Given the description of an element on the screen output the (x, y) to click on. 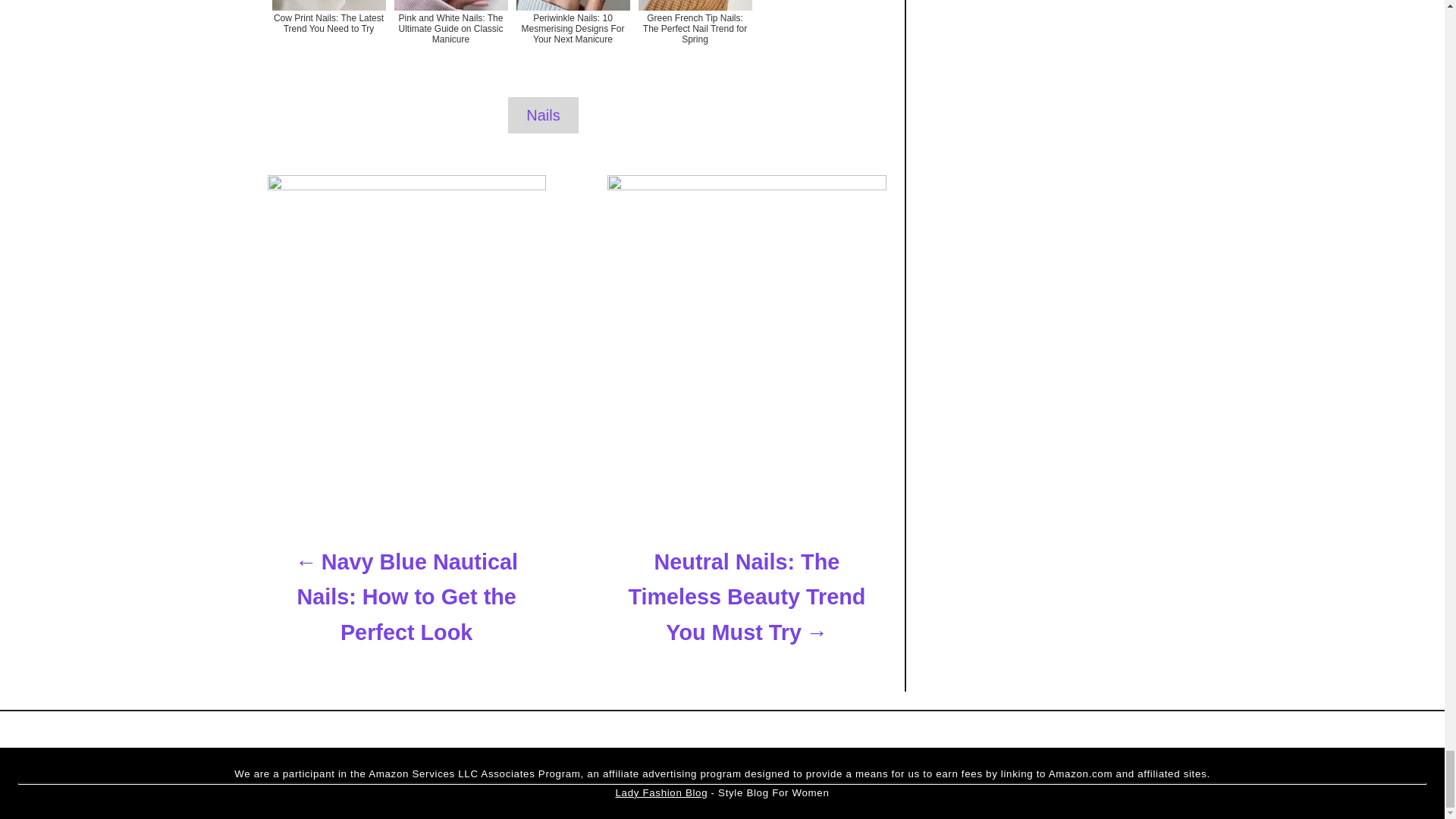
Cow Print Nails: The Latest Trend You Need to Try (328, 36)
Green French Tip Nails: The Perfect Nail Trend for Spring (695, 36)
Neutral Nails: The Timeless Beauty Trend You Must Try (746, 597)
Lady Fashion Blog (660, 792)
Nails (543, 115)
Navy Blue Nautical Nails: How to Get the Perfect Look (405, 597)
Pink and White Nails: The Ultimate Guide on Classic Manicure (451, 36)
